Given the description of an element on the screen output the (x, y) to click on. 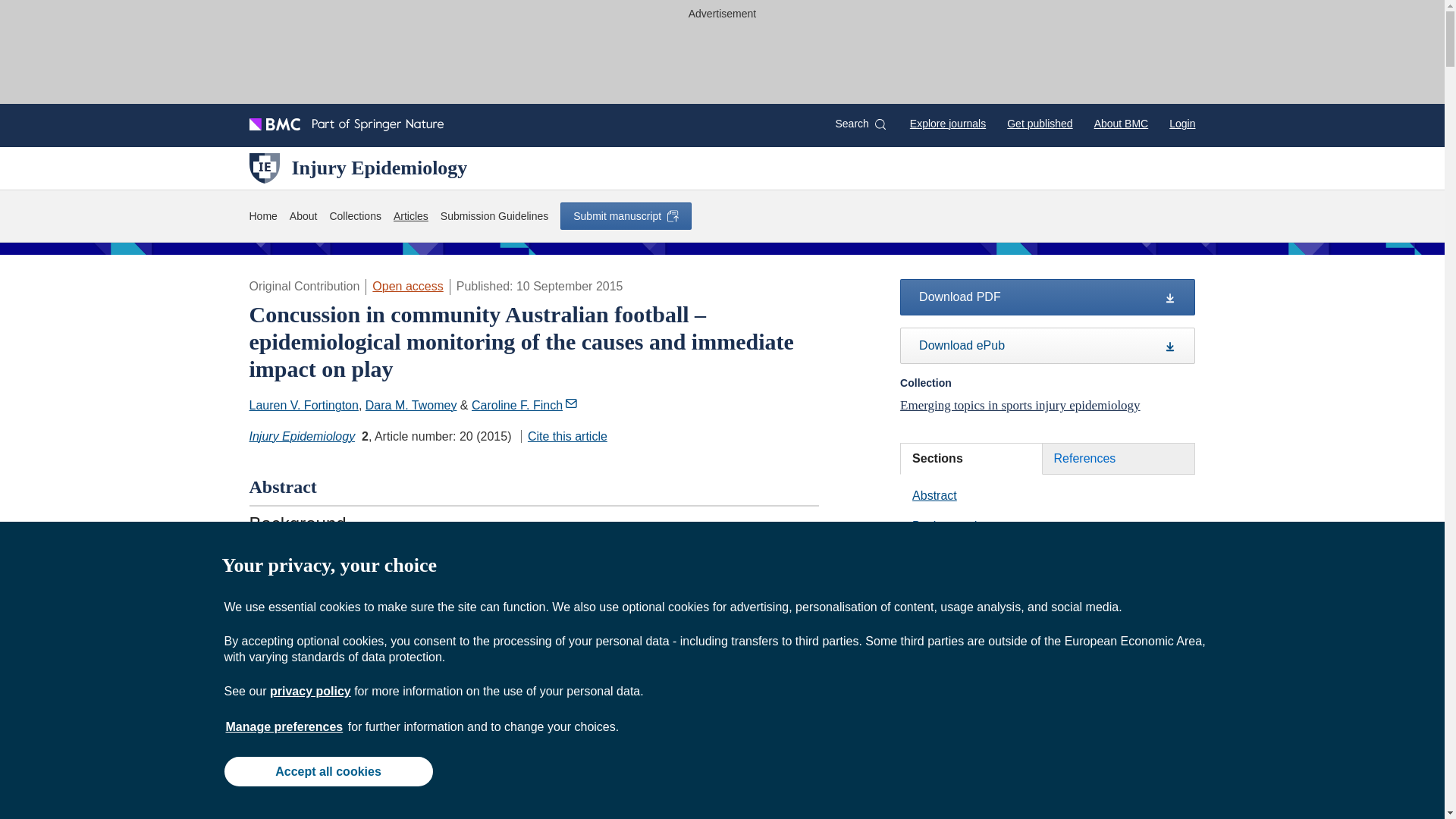
About BMC (1121, 123)
Collections (354, 216)
Cite this article (564, 436)
Injury Epidemiology (357, 168)
Get published (1039, 123)
Accept all cookies (328, 771)
privacy policy (309, 690)
Login (1182, 123)
Home (262, 216)
Submission Guidelines (494, 216)
